Given the description of an element on the screen output the (x, y) to click on. 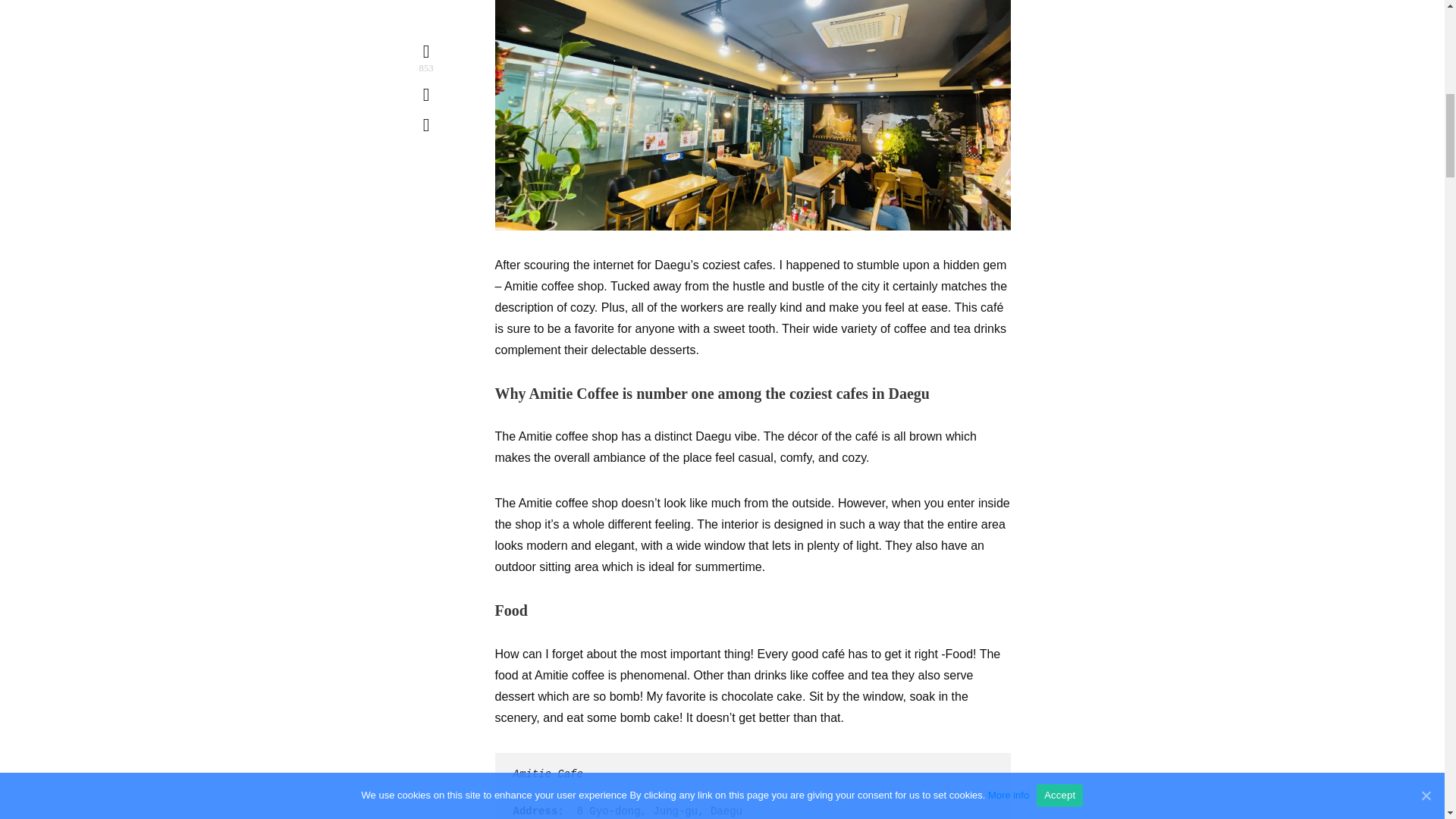
Advertisement (751, 111)
